Given the description of an element on the screen output the (x, y) to click on. 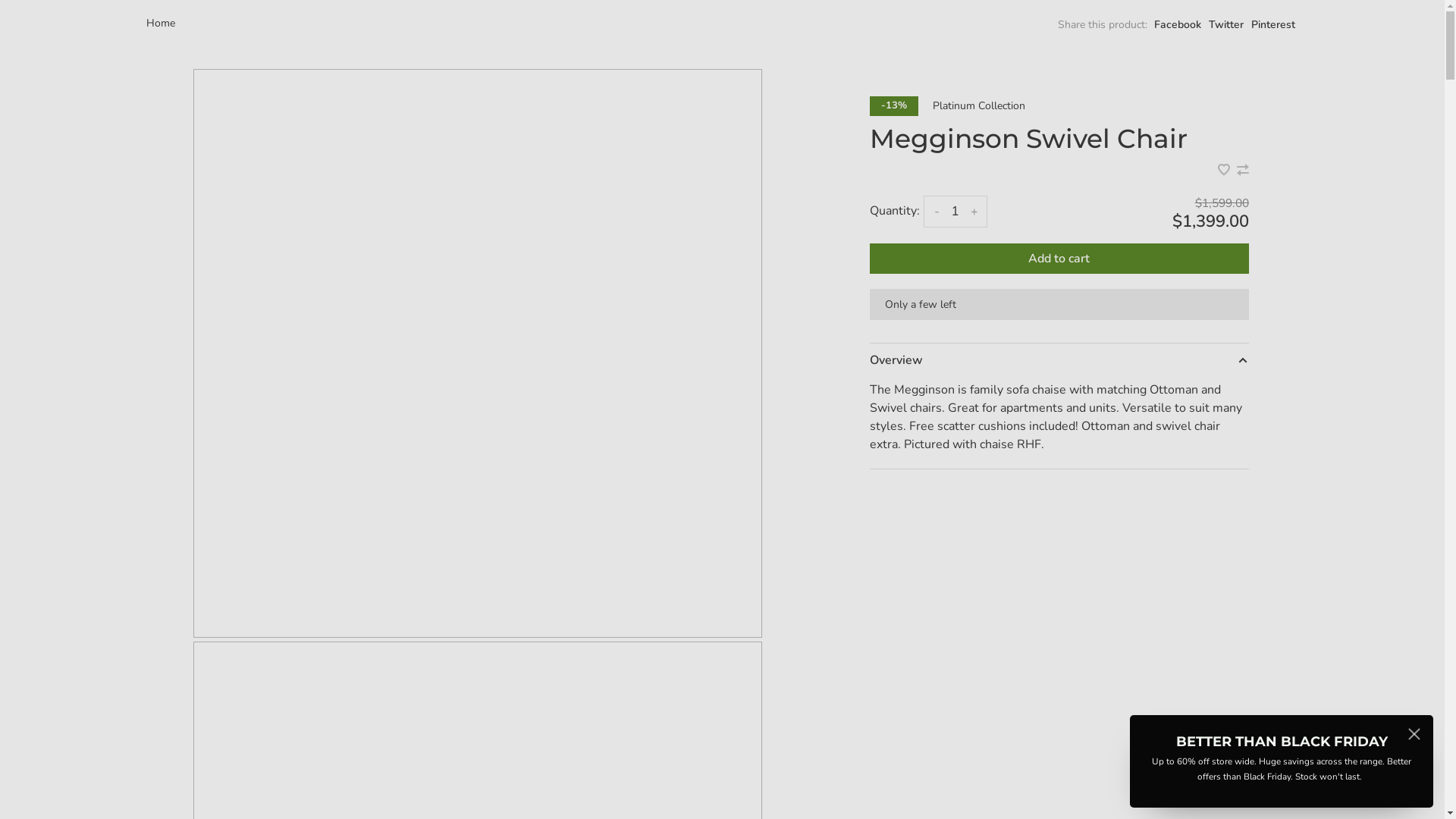
Add to compare Element type: hover (1242, 171)
Twitter Element type: text (1225, 24)
Facebook Element type: text (1177, 24)
Home Element type: text (159, 22)
Pinterest Element type: text (1273, 24)
Platinum Collection Element type: text (978, 105)
Overview Element type: text (1058, 359)
+ Element type: text (974, 211)
Add to wishlist Element type: hover (1225, 171)
- Element type: text (936, 211)
Add to cart Element type: text (1058, 258)
